Given the description of an element on the screen output the (x, y) to click on. 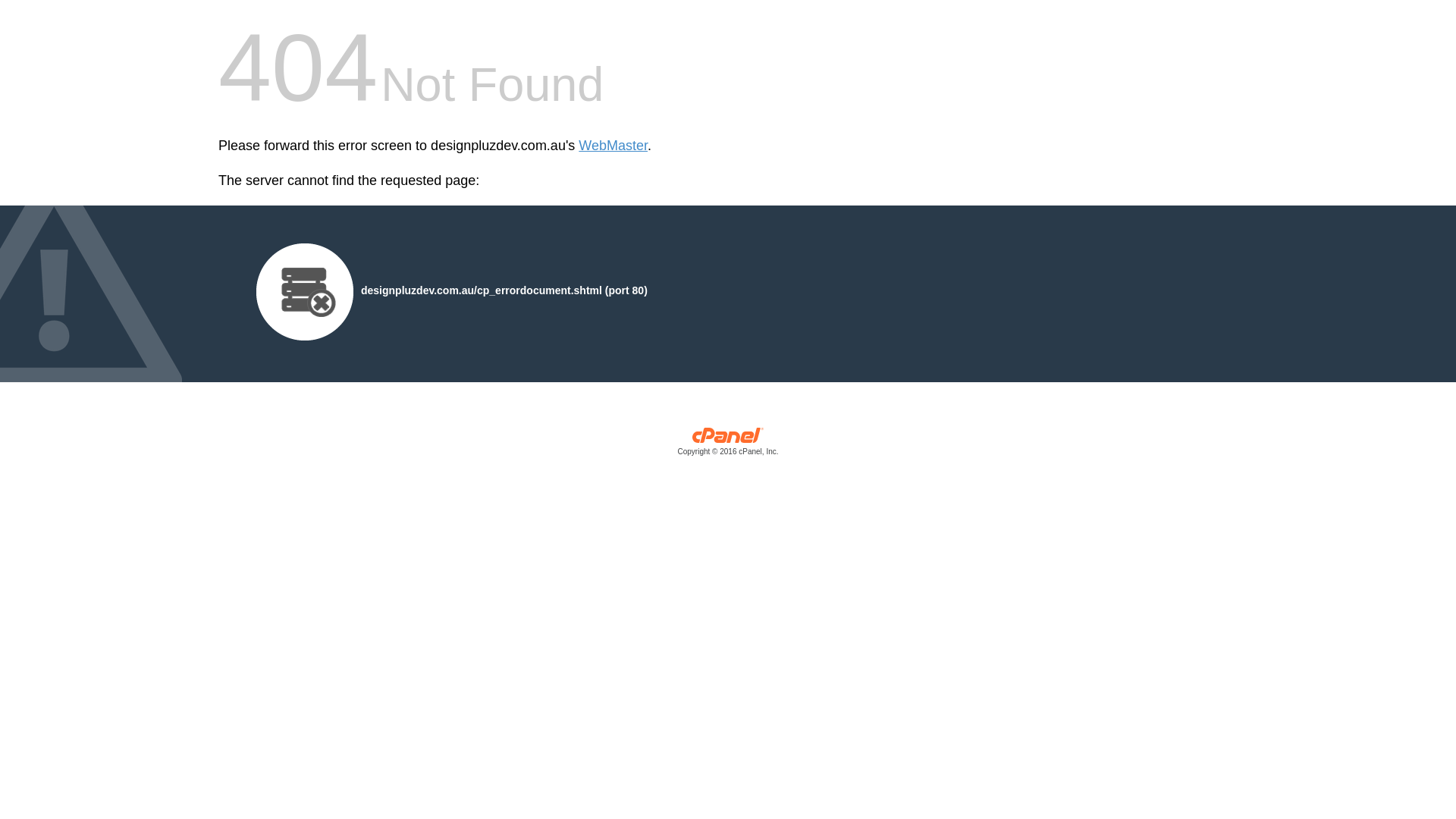
WebMaster Element type: text (612, 145)
